Given the description of an element on the screen output the (x, y) to click on. 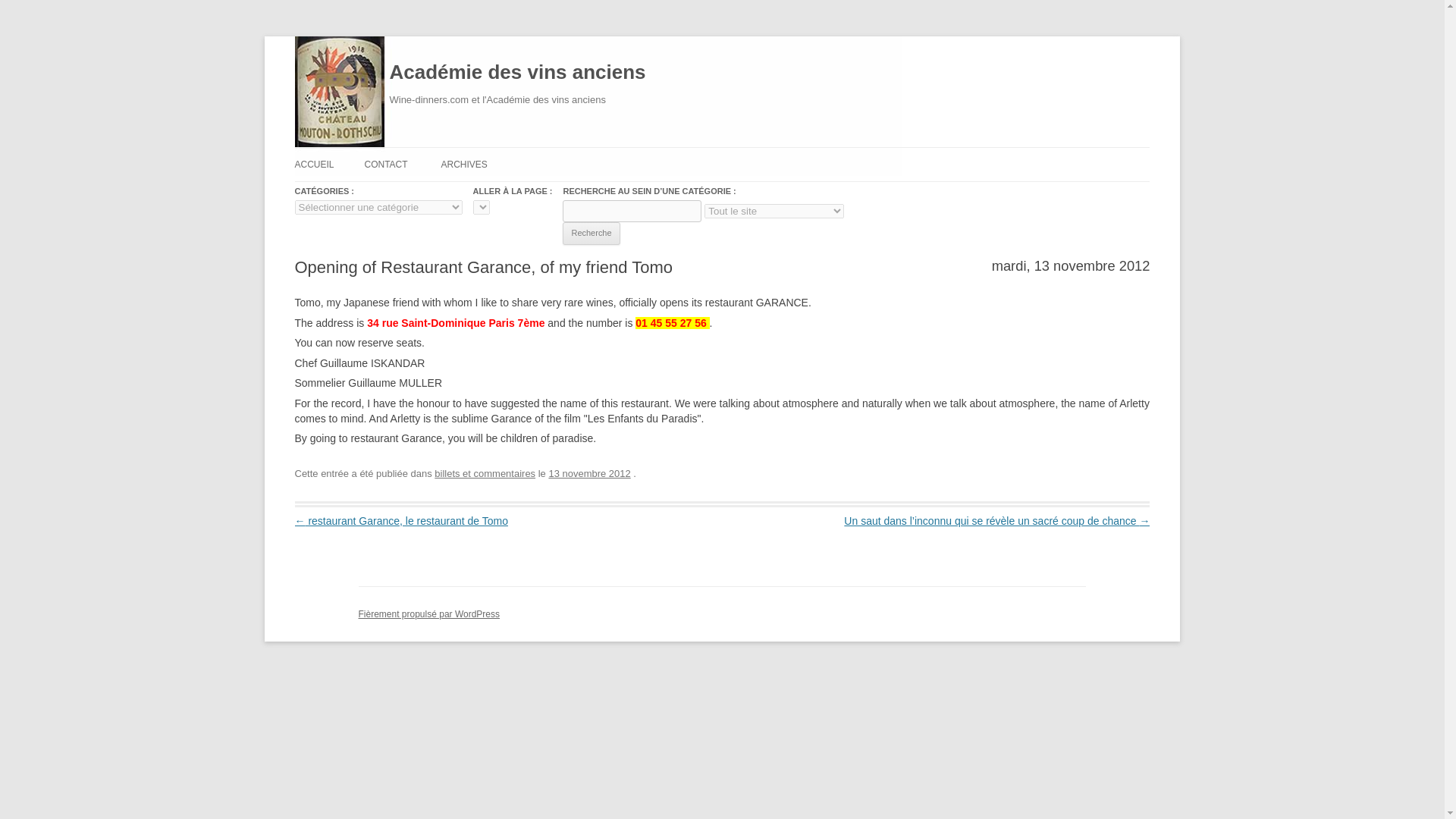
Aller au contenu (759, 152)
ARCHIVES (463, 164)
Recherche (591, 232)
Aller au contenu (759, 152)
billets et commentaires (484, 473)
15 h 35 min (589, 473)
Recherche (591, 232)
CONTACT (385, 164)
ACCUEIL (313, 164)
13 novembre 2012 (589, 473)
